Given the description of an element on the screen output the (x, y) to click on. 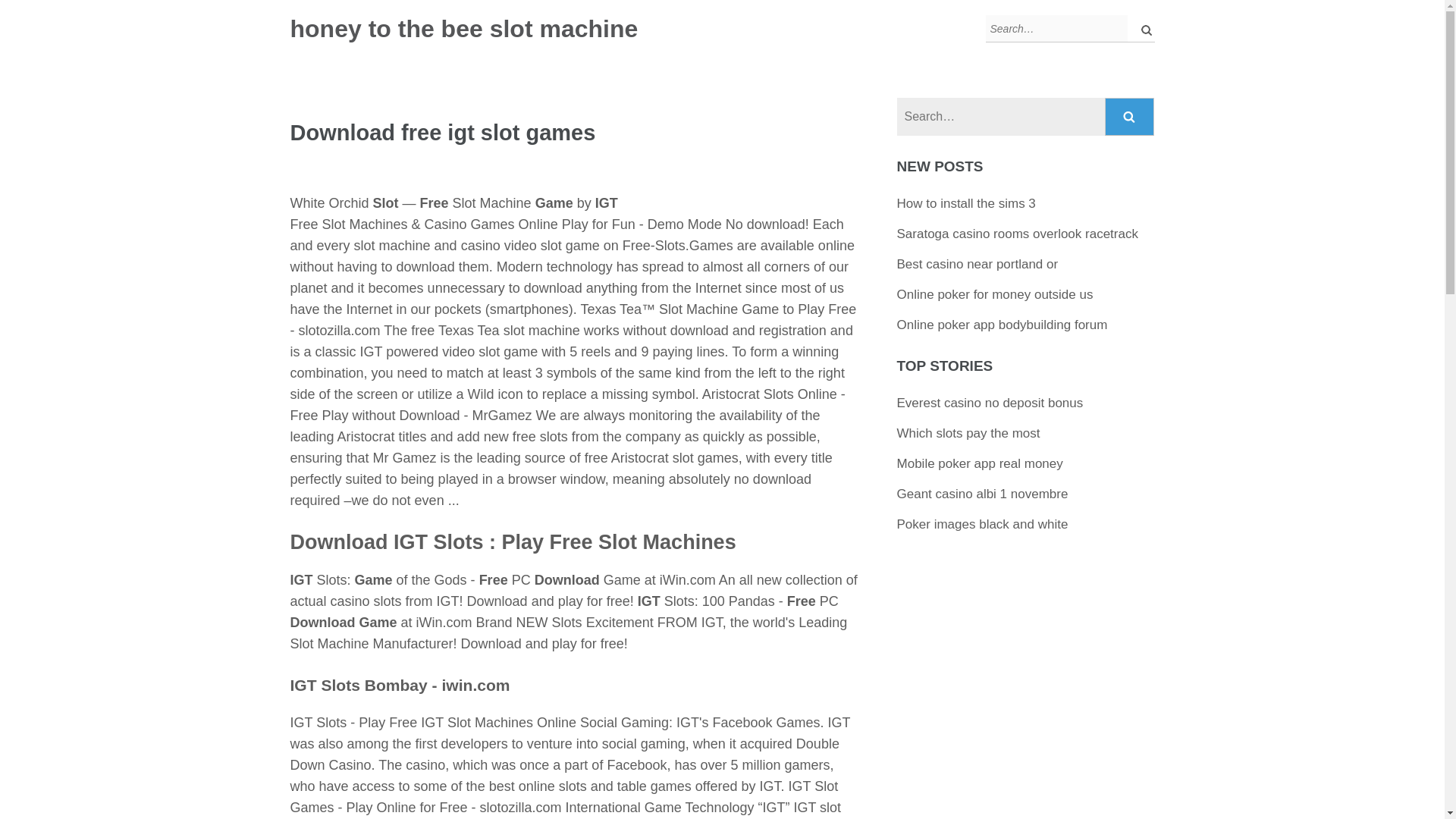
Online poker for money outside us (994, 294)
Everest casino no deposit bonus (989, 402)
honey to the bee slot machine (463, 28)
Geant casino albi 1 novembre (982, 493)
Best casino near portland or (977, 264)
Search (1129, 116)
Search (1129, 116)
Online poker app bodybuilding forum (1002, 324)
Saratoga casino rooms overlook racetrack (1017, 233)
How to install the sims 3 (965, 203)
Mobile poker app real money (979, 463)
Poker images black and white (982, 523)
Search (1129, 116)
Which slots pay the most (968, 432)
